Given the description of an element on the screen output the (x, y) to click on. 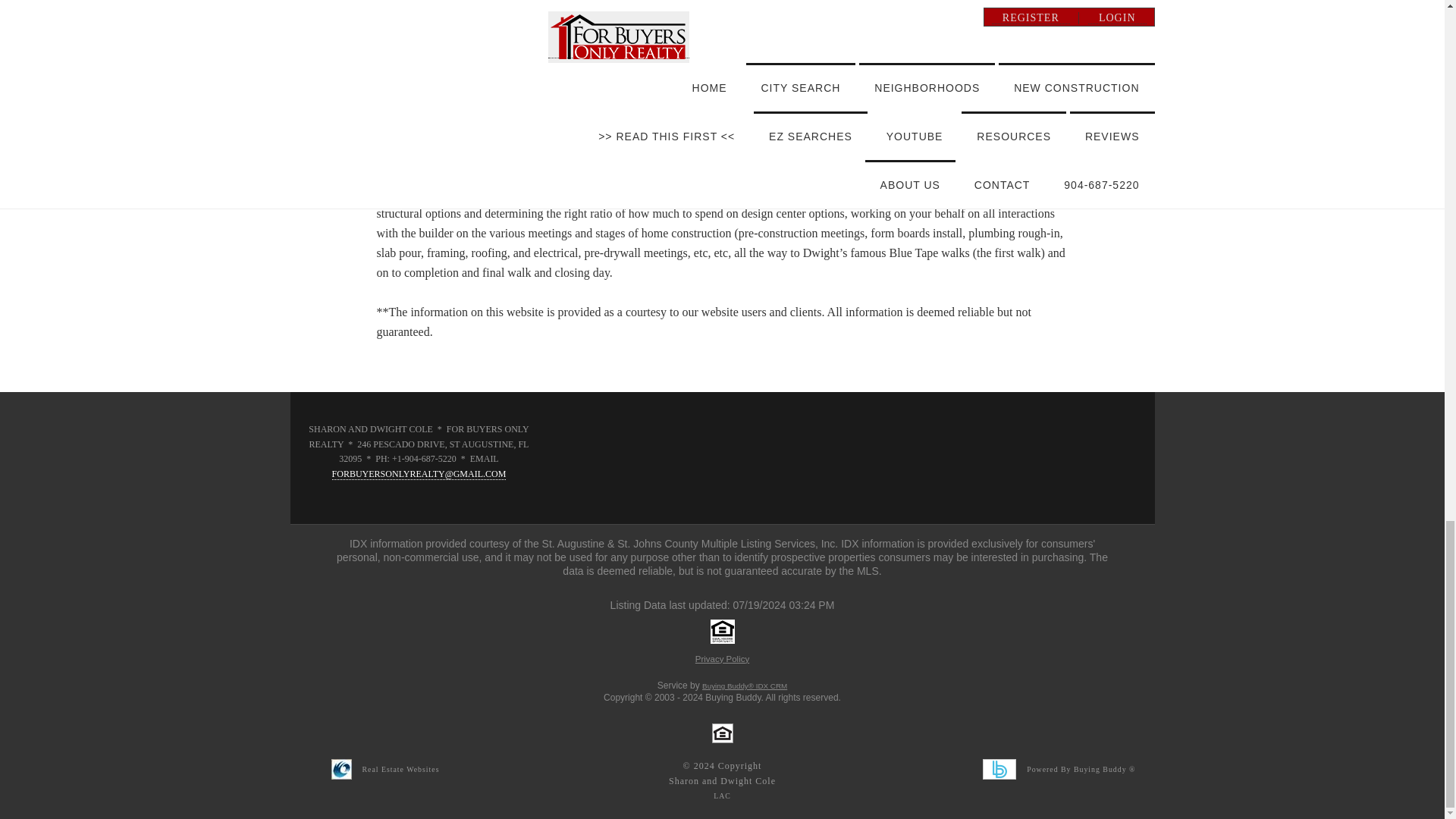
Blue Fire Group (341, 769)
Equal Housing (721, 732)
Buying Buddy (999, 769)
Equal Housing Opportunity (721, 631)
